Given the description of an element on the screen output the (x, y) to click on. 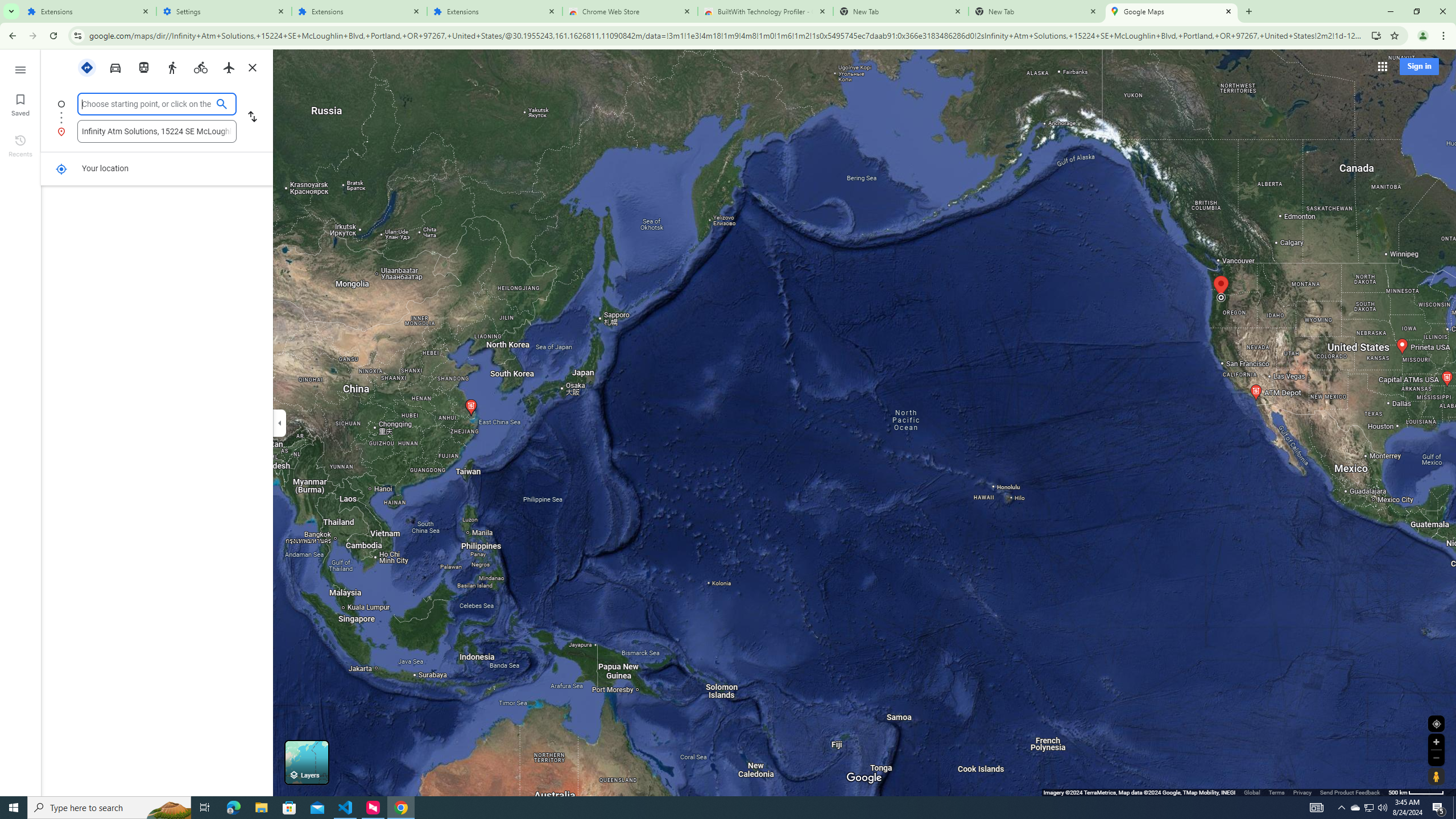
Recents (20, 145)
AutomationID: sb_ifc51 (156, 131)
View site information (77, 35)
Walking (172, 67)
Chrome Web Store (630, 11)
Zoom out (1436, 757)
System (6, 6)
Cycling (200, 66)
Close directions (252, 67)
Search (282, 132)
BuiltWith Technology Profiler - Chrome Web Store (765, 11)
Collapse side panel (279, 422)
Global (1251, 792)
Layers (306, 762)
